Given the description of an element on the screen output the (x, y) to click on. 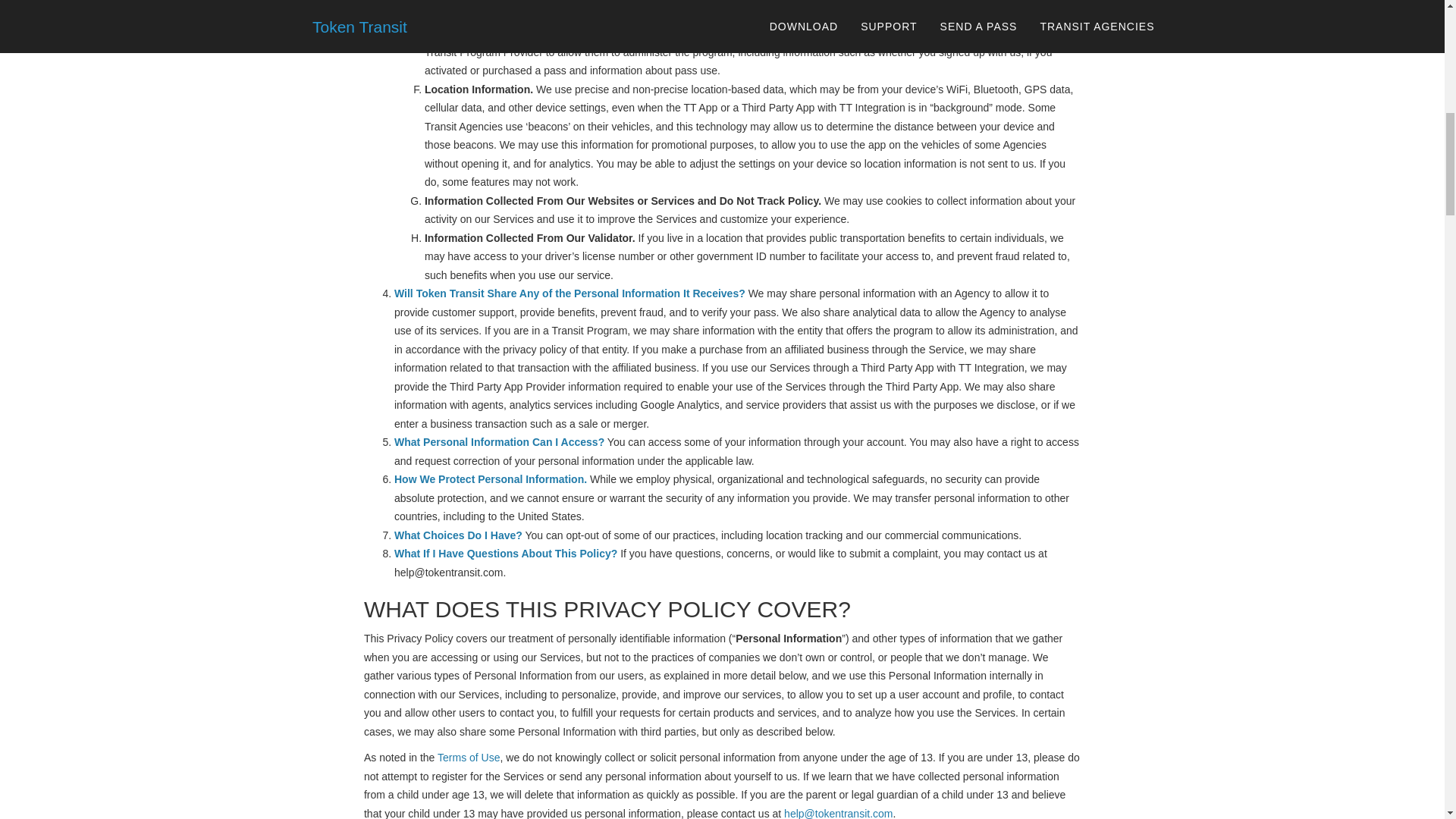
How We Protect Personal Information. (490, 479)
What Personal Information Can I Access? (499, 441)
What Choices Do I Have? (458, 535)
What If I Have Questions About This Policy? (505, 553)
Terms of Use (468, 757)
